Given the description of an element on the screen output the (x, y) to click on. 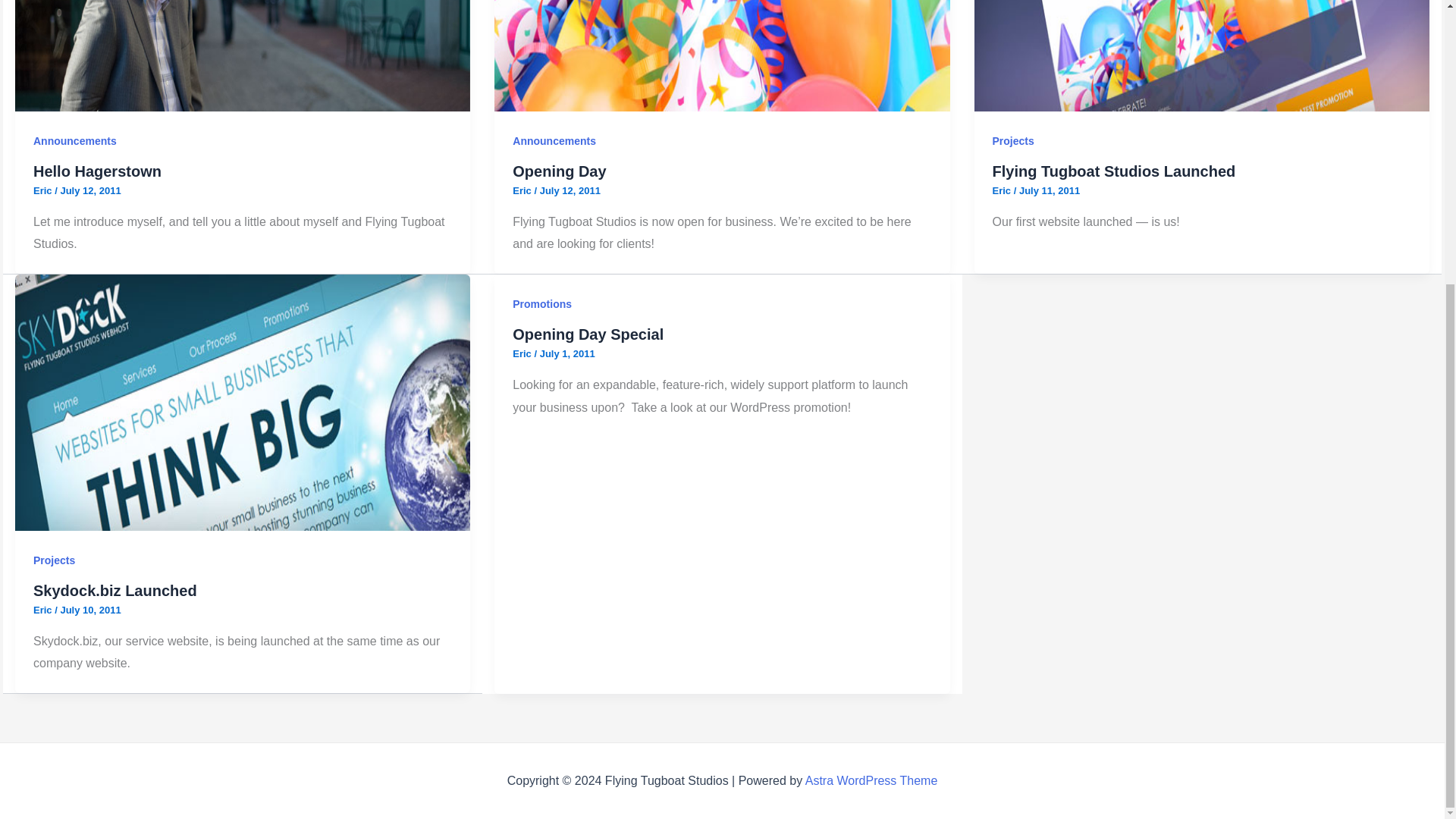
Hello Hagerstown (97, 170)
View all posts by Eric (44, 190)
Projects (1012, 141)
View all posts by Eric (523, 353)
View all posts by Eric (523, 190)
Announcements (74, 141)
Opening Day (558, 170)
View all posts by Eric (44, 609)
Eric (523, 190)
Announcements (553, 141)
Eric (44, 190)
View all posts by Eric (1002, 190)
